Given the description of an element on the screen output the (x, y) to click on. 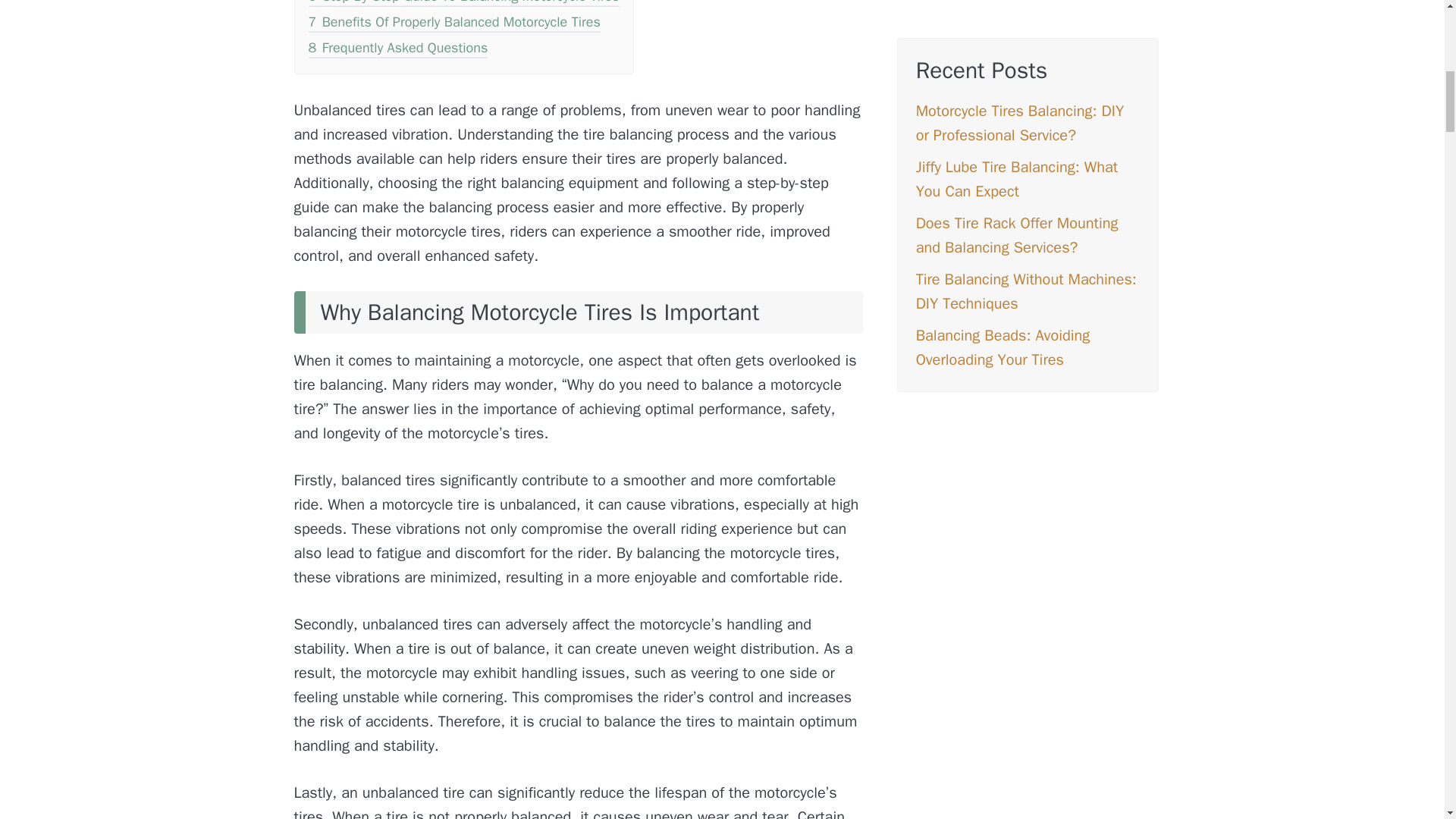
7 Benefits Of Properly Balanced Motorcycle Tires (453, 23)
6 Step-By-Step Guide To Balancing Motorcycle Tires (462, 4)
8 Frequently Asked Questions (397, 49)
Scroll back to top (1406, 720)
